Given the description of an element on the screen output the (x, y) to click on. 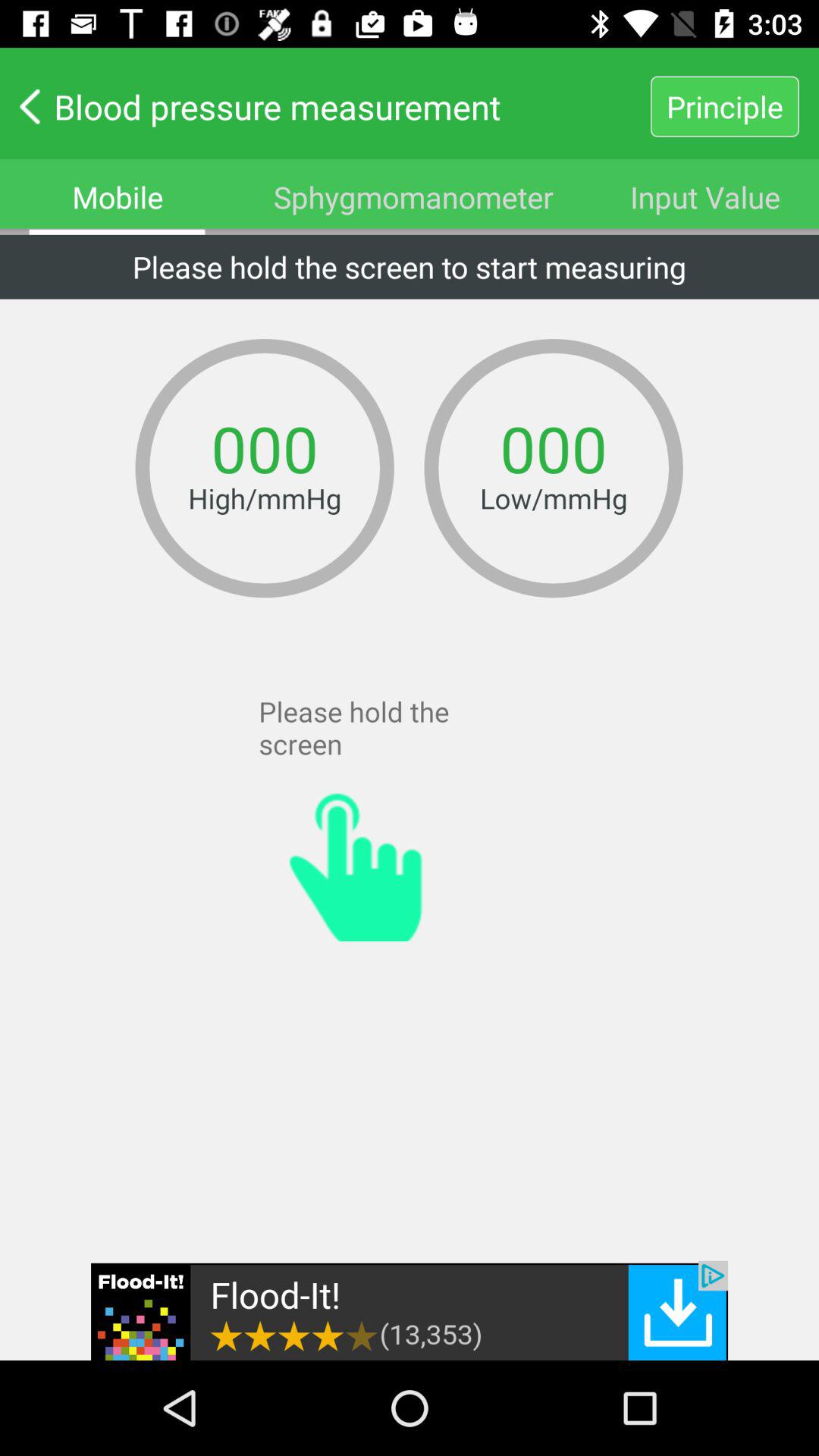
go to advertisement (409, 1310)
